Given the description of an element on the screen output the (x, y) to click on. 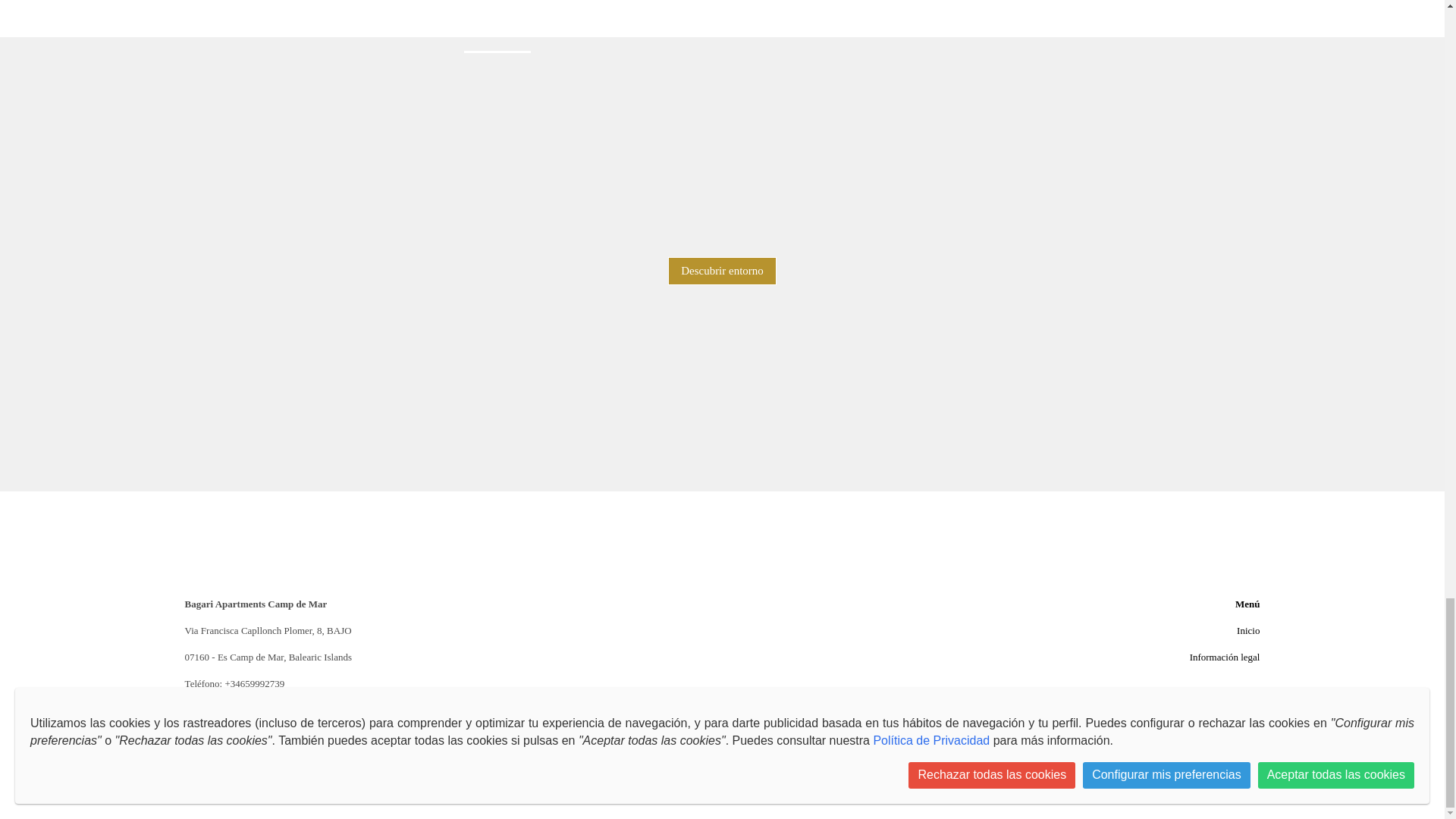
DE (745, 737)
EN (697, 737)
ES (722, 737)
Descubrir entorno (722, 271)
Desarrollado con Amenitiz (721, 758)
